Given the description of an element on the screen output the (x, y) to click on. 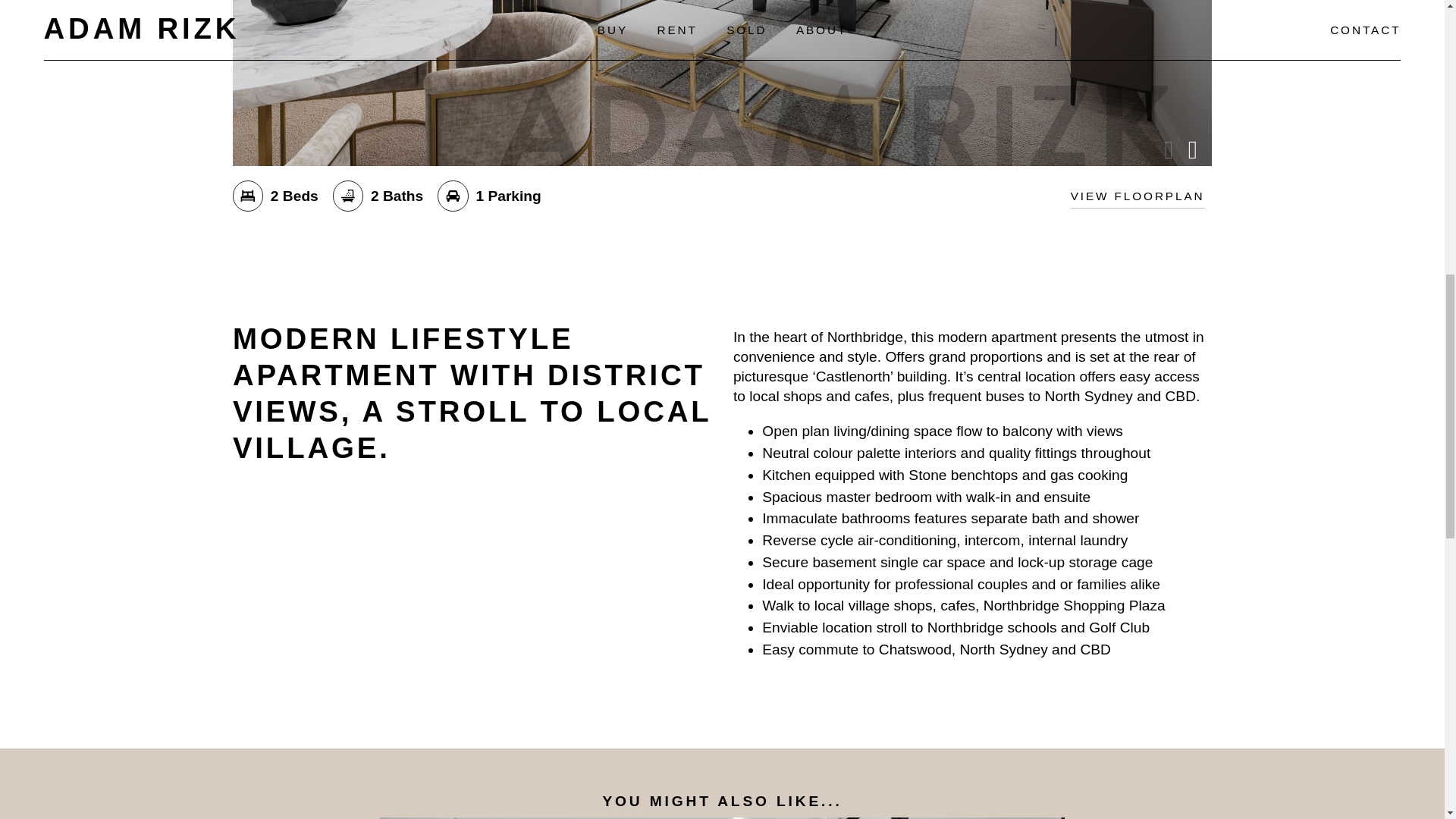
VIEW FLOORPLAN (1137, 195)
